Given the description of an element on the screen output the (x, y) to click on. 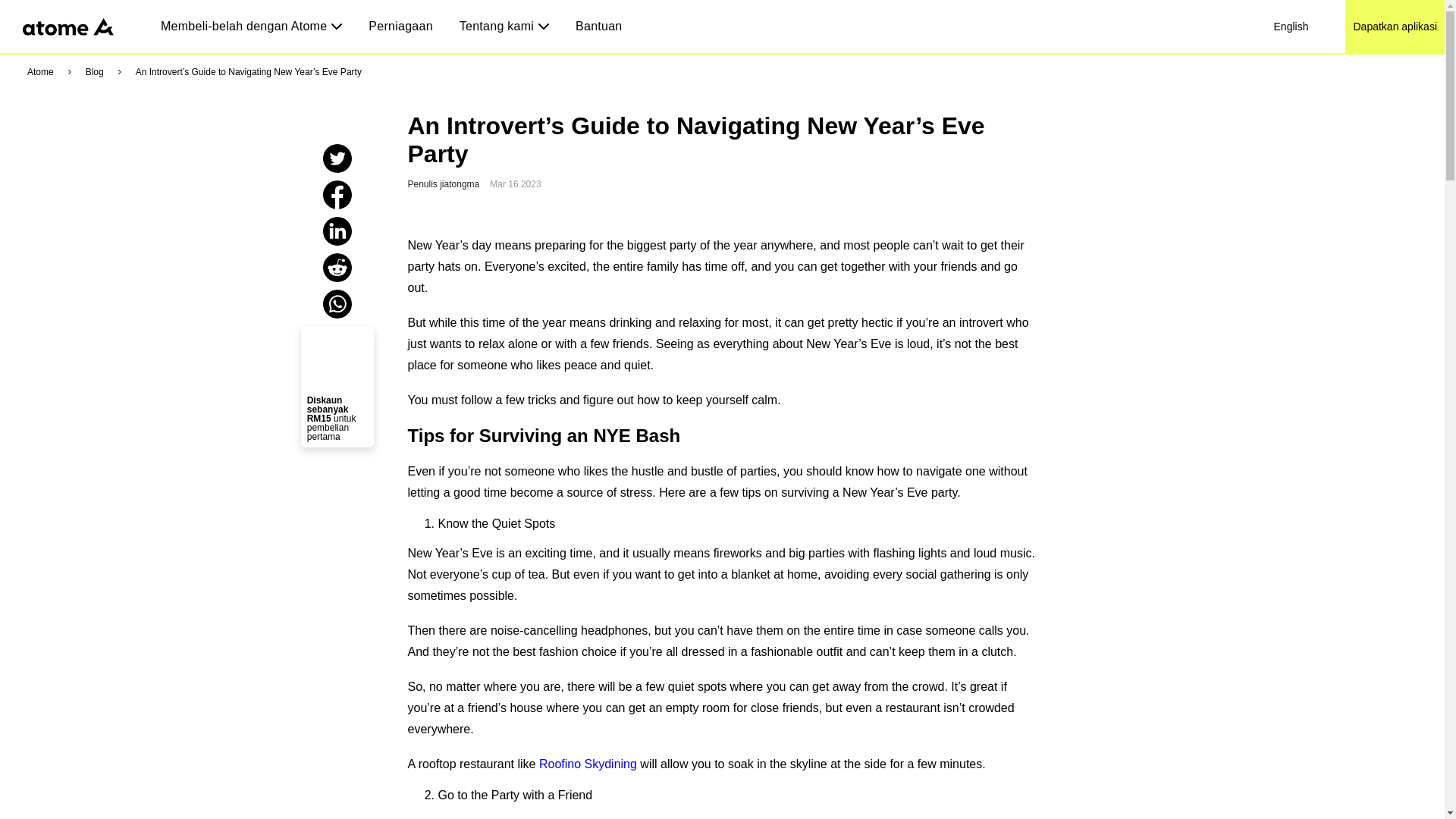
Atome (40, 72)
Click to share on LinkedIn (337, 241)
Click to share on Twitter (337, 168)
Click to share on Reddit (337, 277)
Bantuan (598, 26)
English (1290, 26)
Click to share on WhatsApp (337, 314)
Click to share on Facebook (337, 205)
Perniagaan (400, 26)
